Given the description of an element on the screen output the (x, y) to click on. 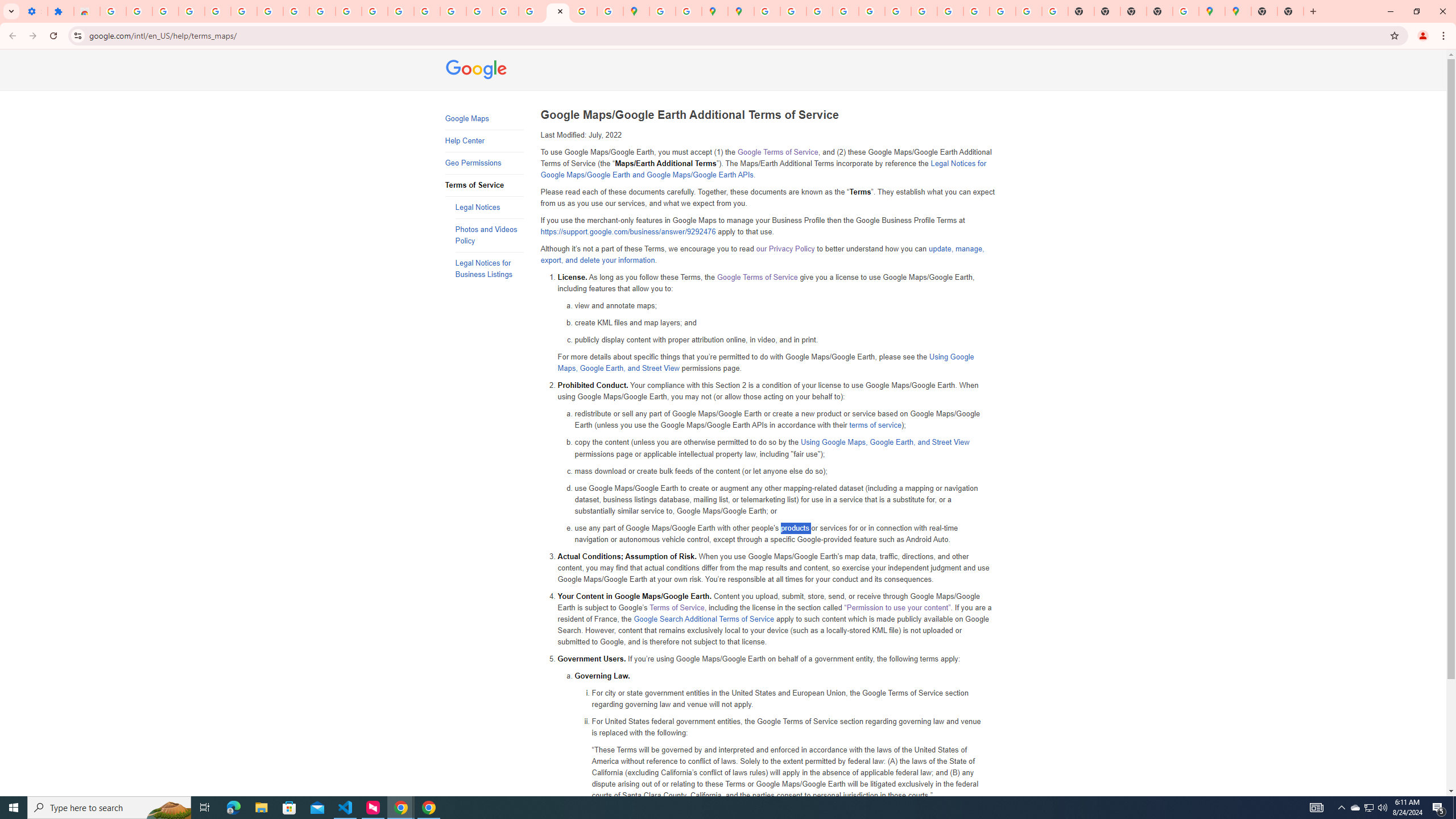
Policy Accountability and Transparency - Transparency Center (766, 11)
YouTube (897, 11)
New Tab (1264, 11)
Google Search Additional Terms of Service (703, 618)
Help Center (484, 140)
Google (477, 70)
Learn how to find your photos - Google Photos Help (165, 11)
